Given the description of an element on the screen output the (x, y) to click on. 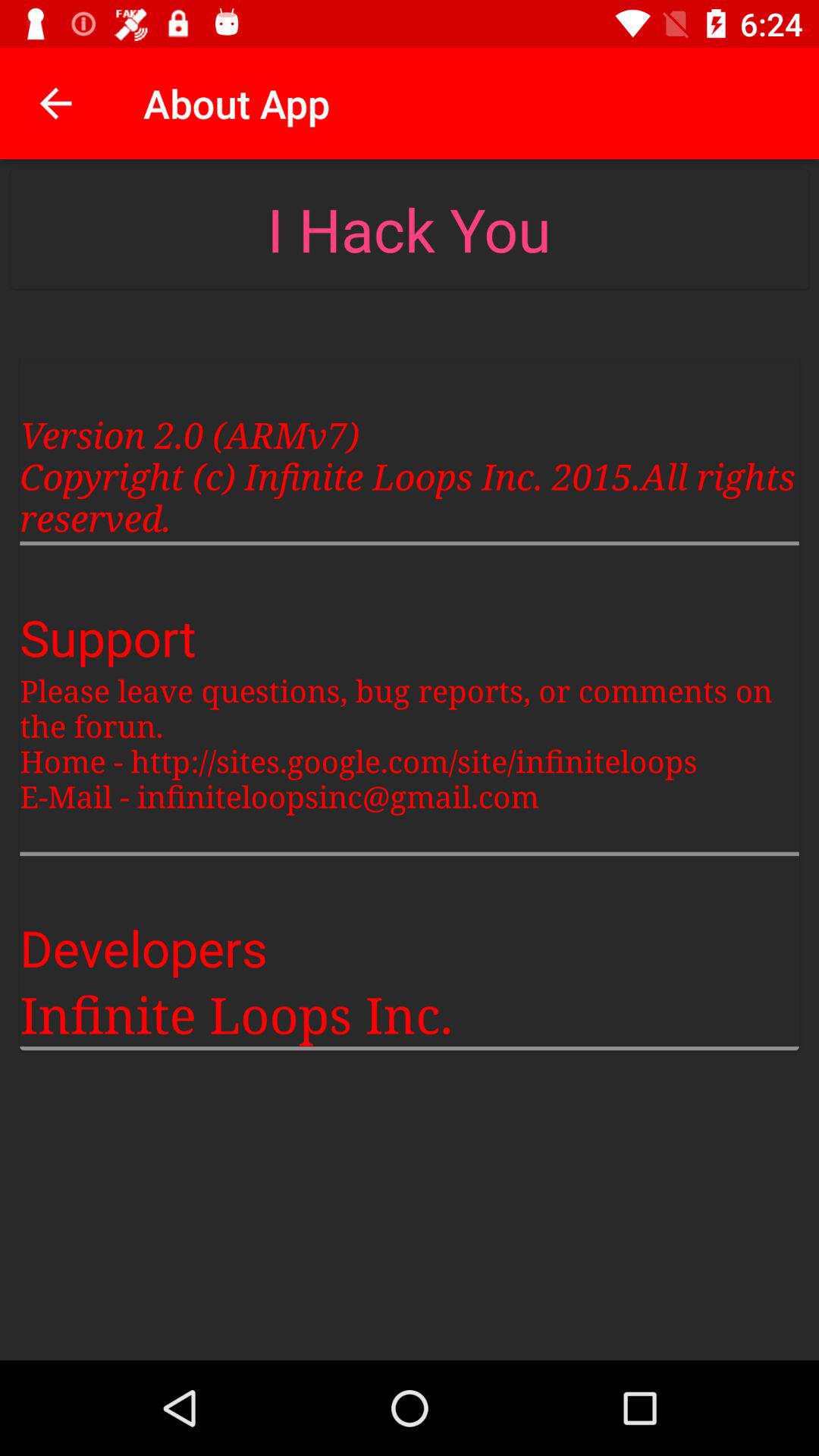
turn on item next to about app item (55, 103)
